Given the description of an element on the screen output the (x, y) to click on. 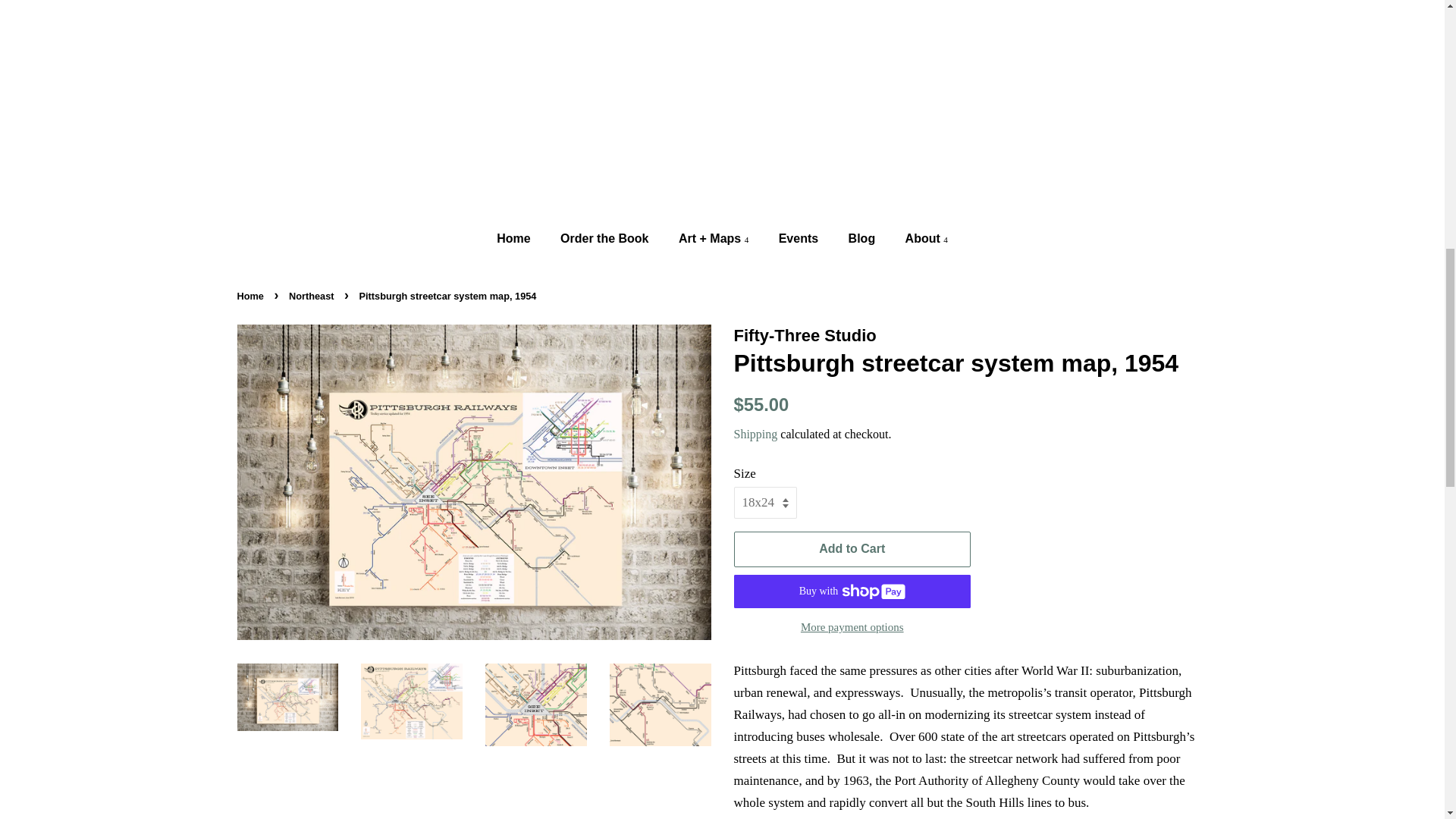
Back to the frontpage (250, 296)
